Given the description of an element on the screen output the (x, y) to click on. 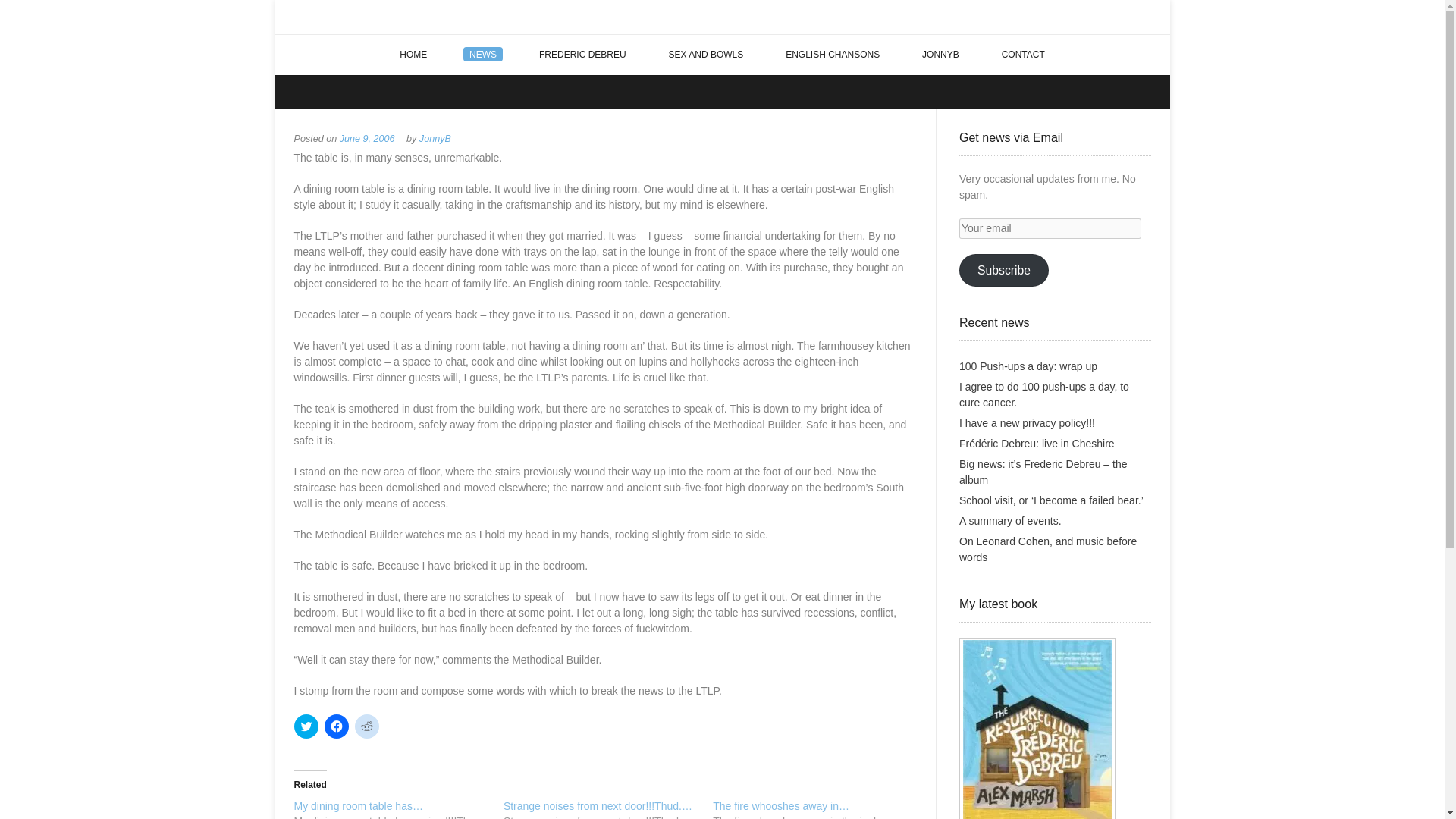
JONNYB (940, 54)
Click to share on Facebook (336, 726)
Click to share on Twitter (306, 726)
CONTACT (1023, 54)
HOME (413, 54)
I agree to do 100 push-ups a day, to cure cancer. (1044, 394)
NEWS (482, 54)
FREDERIC DEBREU (582, 54)
On Leonard Cohen, and music before words (1048, 549)
I have a new privacy policy!!! (1026, 422)
